Given the description of an element on the screen output the (x, y) to click on. 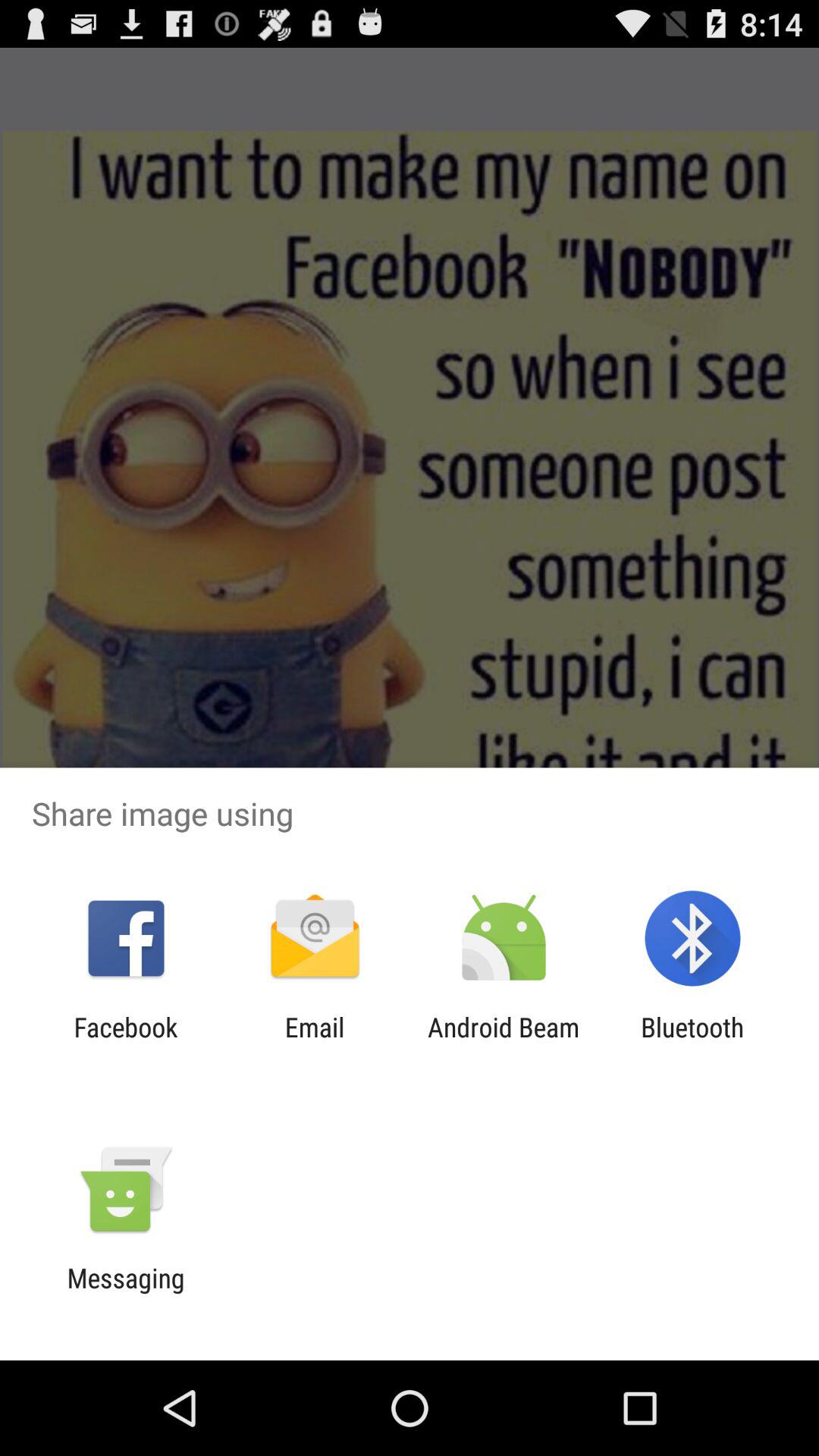
scroll to bluetooth (691, 1042)
